Given the description of an element on the screen output the (x, y) to click on. 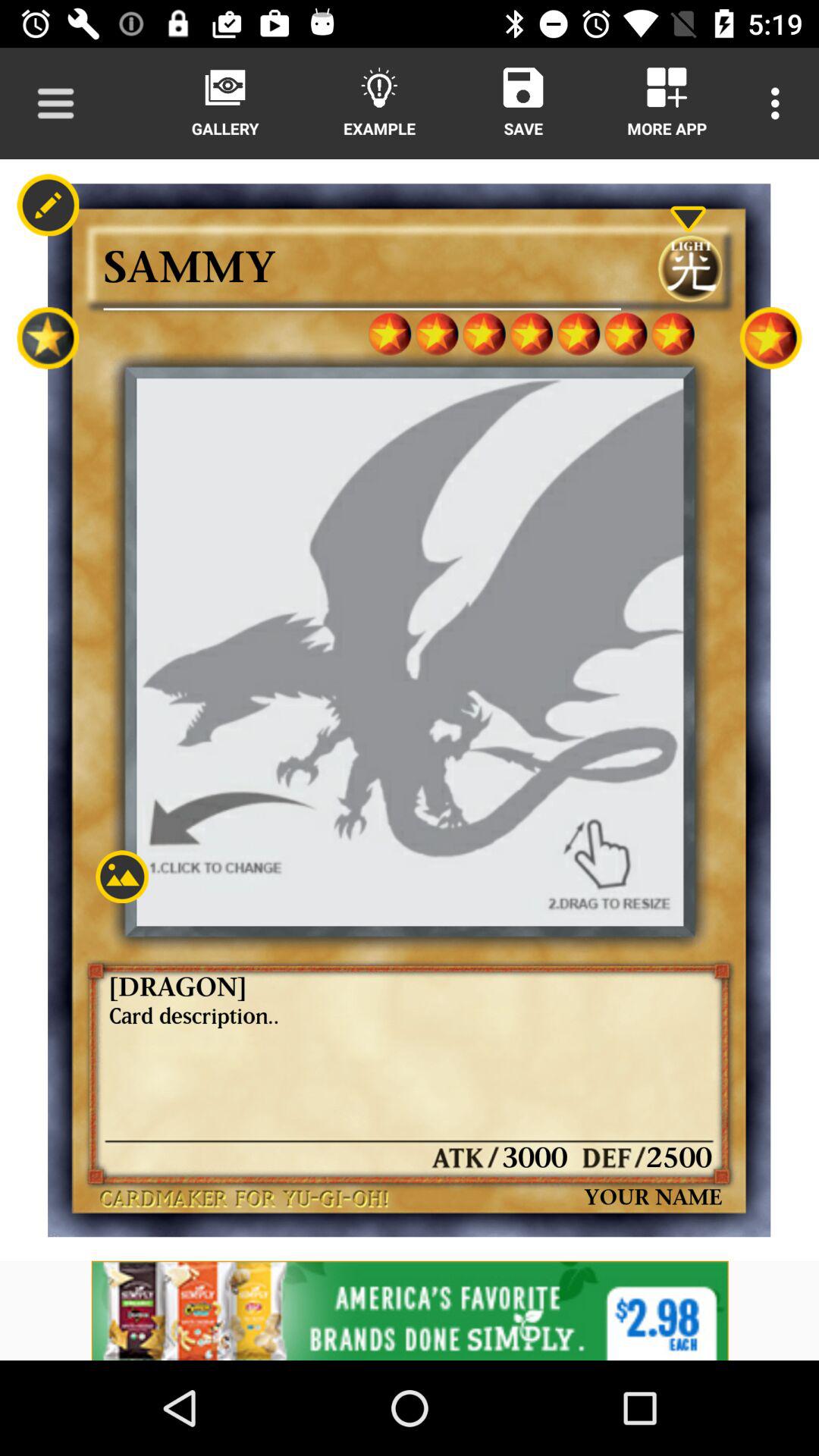
game level star button (770, 338)
